Given the description of an element on the screen output the (x, y) to click on. 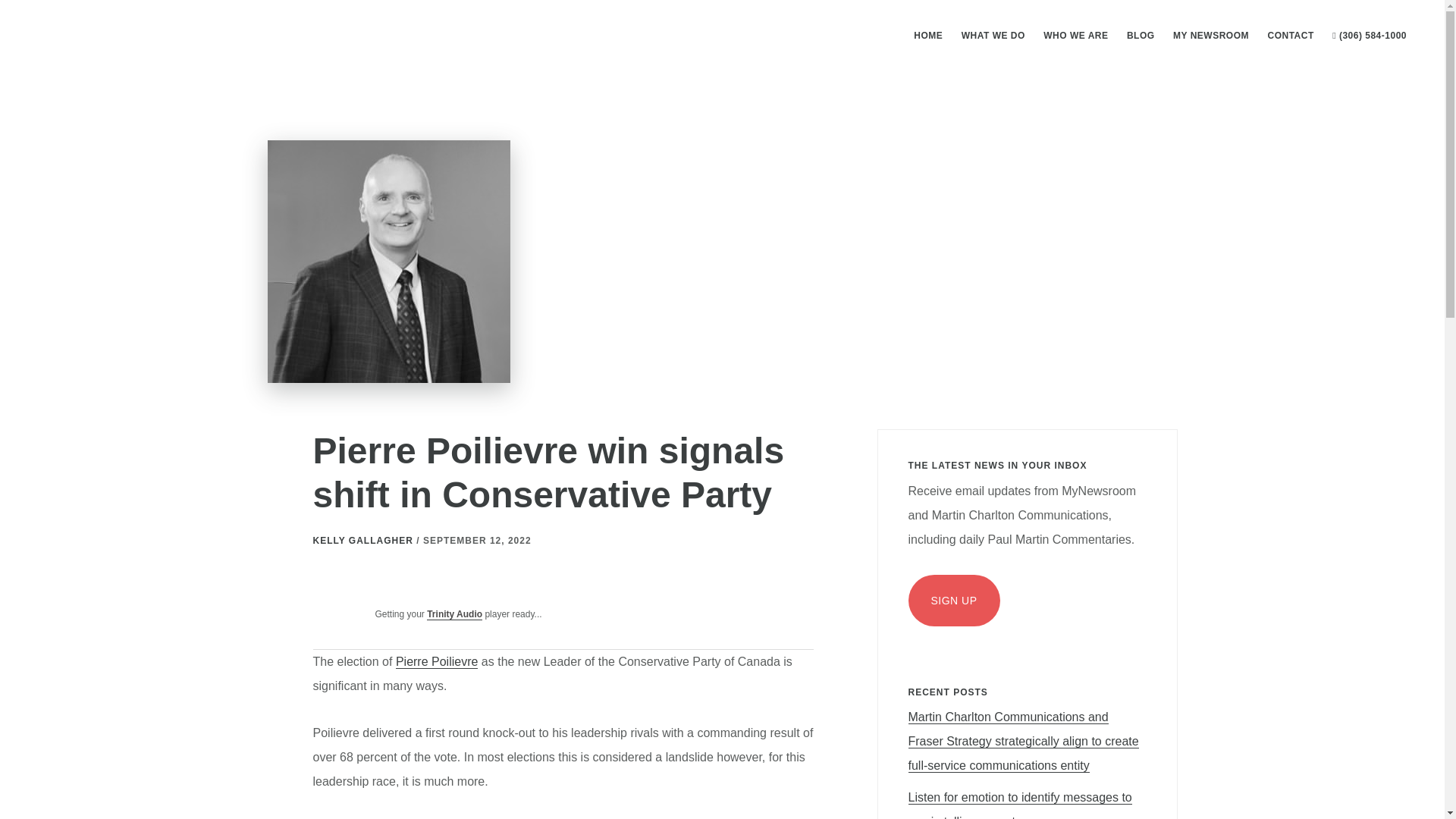
MARTIN CHARLTON COMMUNICATIONS (143, 32)
WHO WE ARE (1075, 35)
WHAT WE DO (992, 35)
BLOG (1140, 35)
MY NEWSROOM (1211, 35)
SIGN UP (954, 600)
Pierre Poilievre (436, 662)
KELLY GALLAGHER (362, 540)
CONTACT (1289, 35)
HOME (927, 35)
Trinity Audio (453, 614)
